Given the description of an element on the screen output the (x, y) to click on. 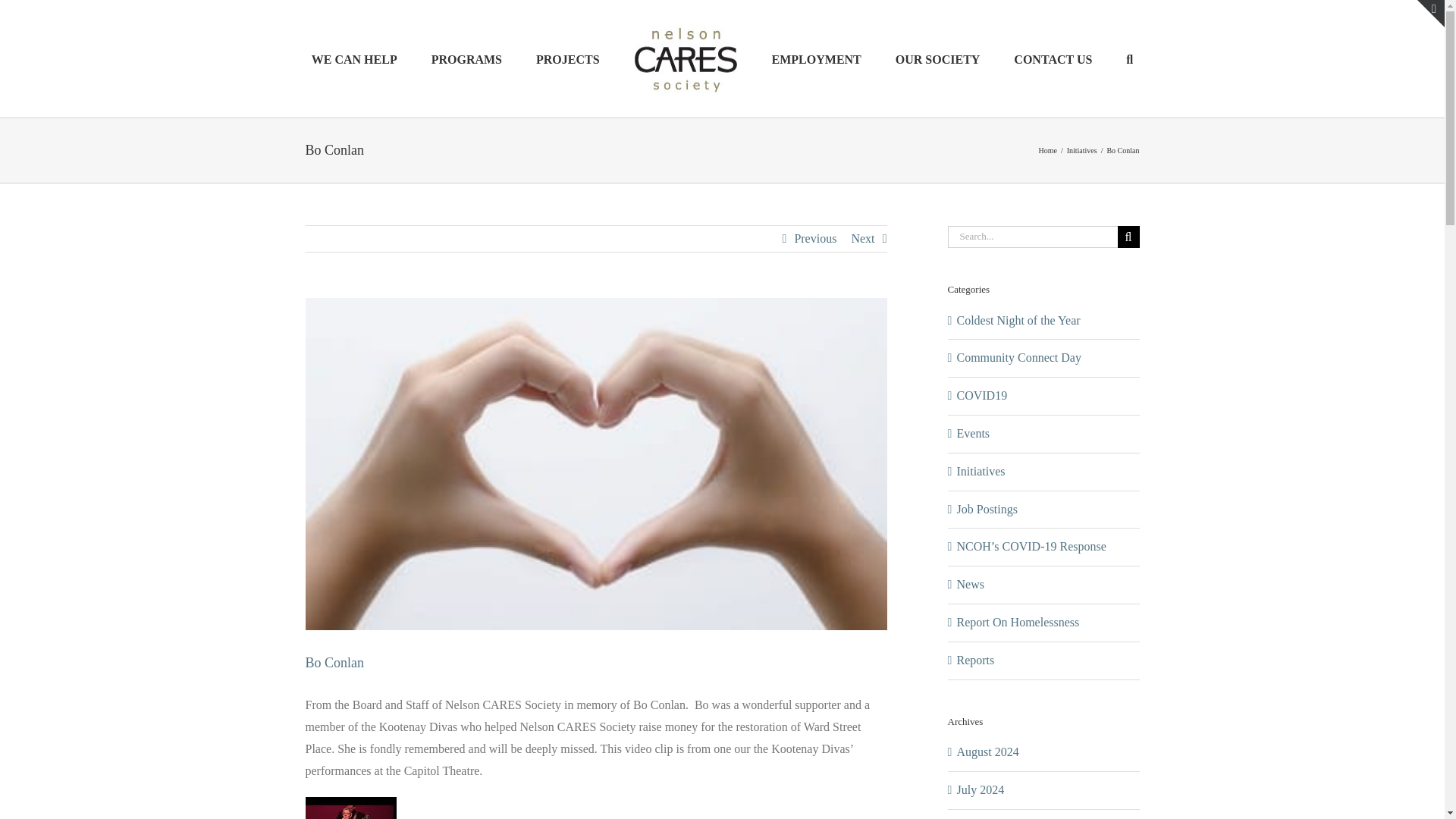
Previous (814, 238)
Coldest Night of the Year (1044, 321)
COVID19 (1044, 395)
OUR SOCIETY (937, 57)
WE CAN HELP (354, 57)
CONTACT US (1052, 57)
Next (862, 238)
Home (1047, 149)
PROGRAMS (466, 57)
Community Connect Day (1044, 358)
